Given the description of an element on the screen output the (x, y) to click on. 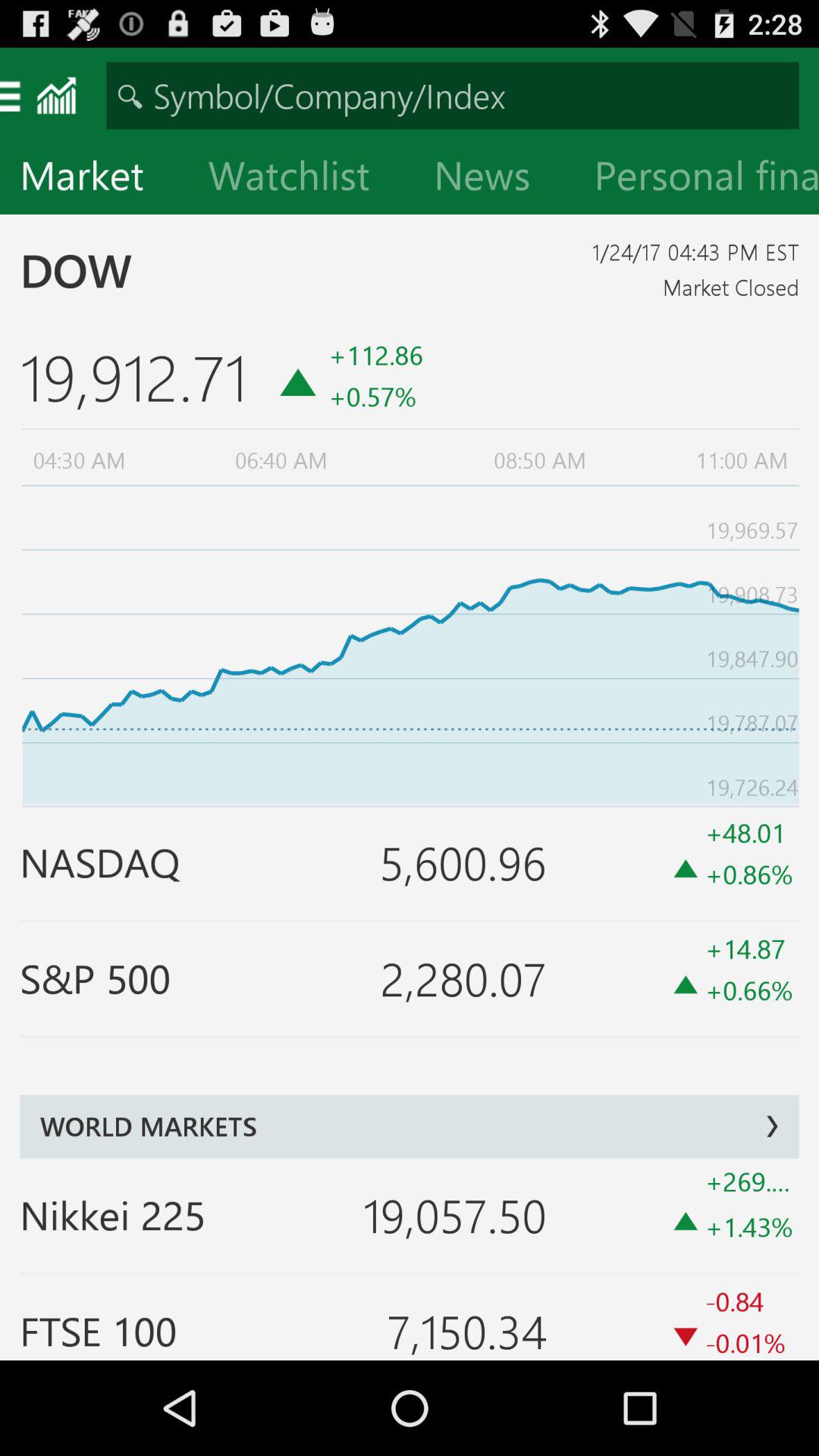
select news icon (494, 178)
